Given the description of an element on the screen output the (x, y) to click on. 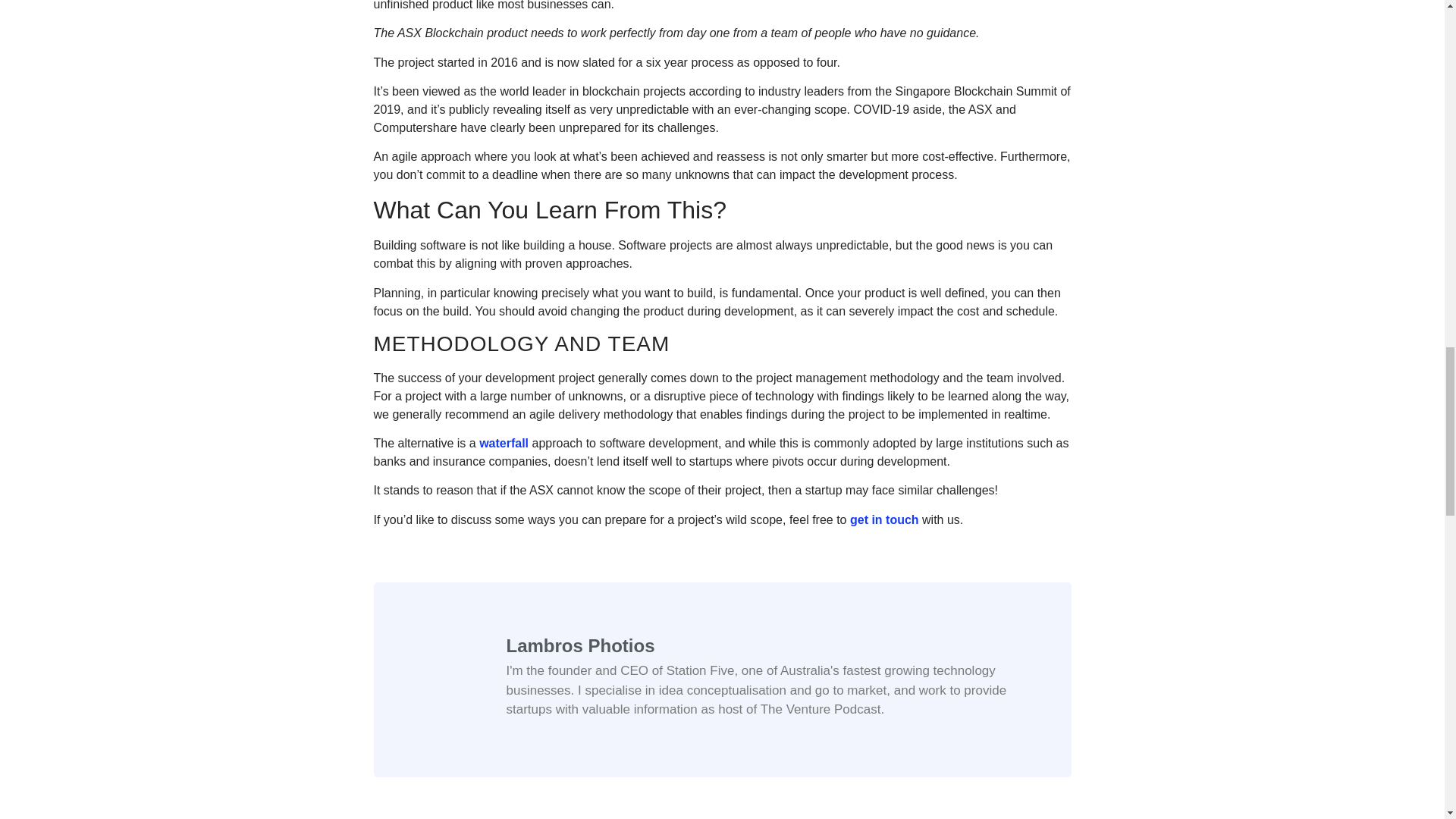
get in touch (884, 519)
waterfall (503, 442)
Lambros Photios (769, 646)
